Given the description of an element on the screen output the (x, y) to click on. 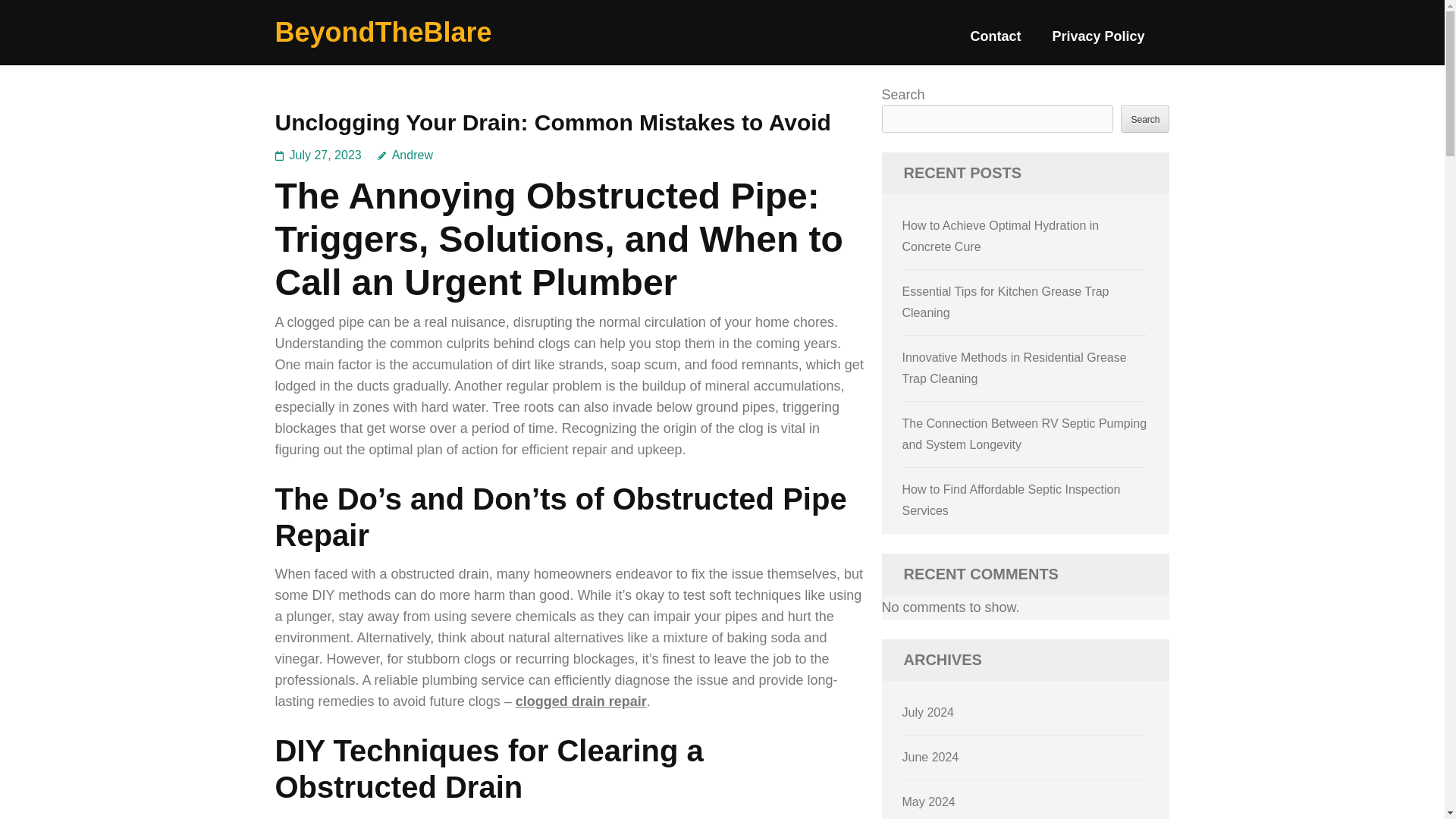
Contact (994, 42)
BeyondTheBlare (383, 31)
Search (1145, 118)
Privacy Policy (1097, 42)
July 2024 (928, 712)
Andrew (404, 154)
May 2024 (928, 801)
How to Find Affordable Septic Inspection Services (1011, 499)
Essential Tips for Kitchen Grease Trap Cleaning (1005, 302)
July 27, 2023 (325, 154)
How to Achieve Optimal Hydration in Concrete Cure (1000, 236)
Innovative Methods in Residential Grease Trap Cleaning (1014, 367)
clogged drain repair (580, 701)
June 2024 (930, 757)
